Given the description of an element on the screen output the (x, y) to click on. 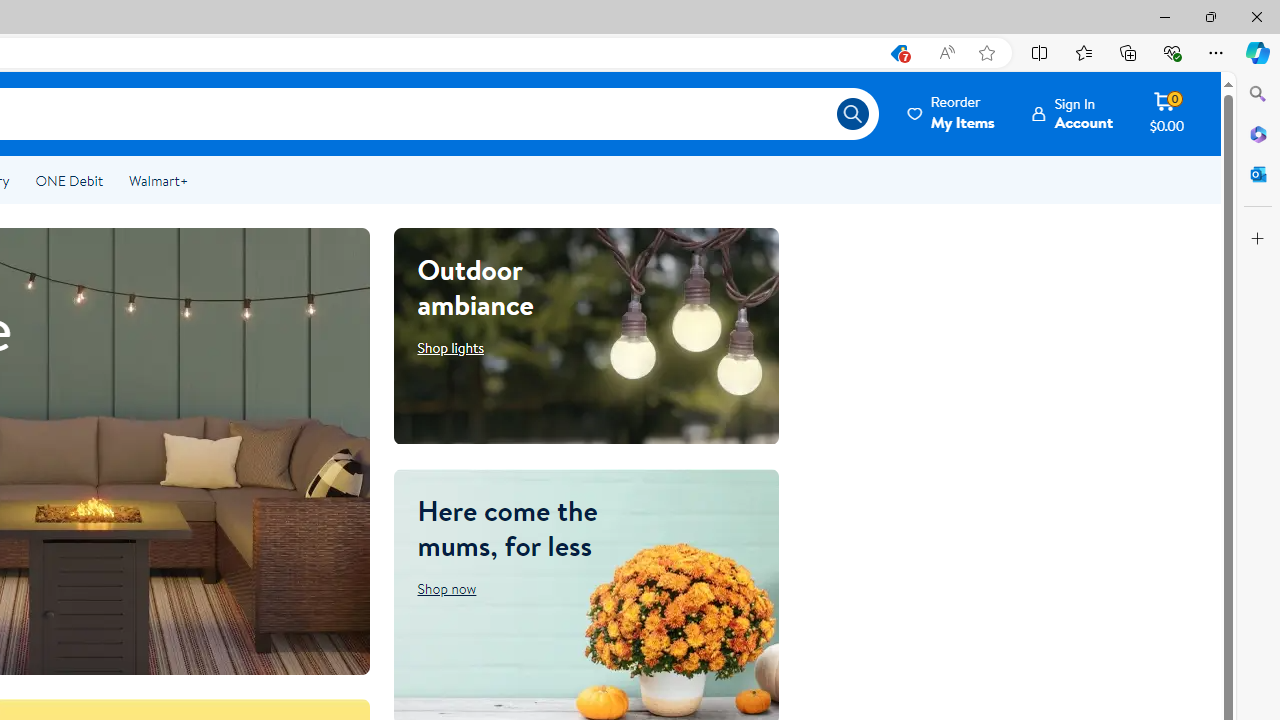
This site has coupons! Shopping in Microsoft Edge, 7 (898, 53)
